Given the description of an element on the screen output the (x, y) to click on. 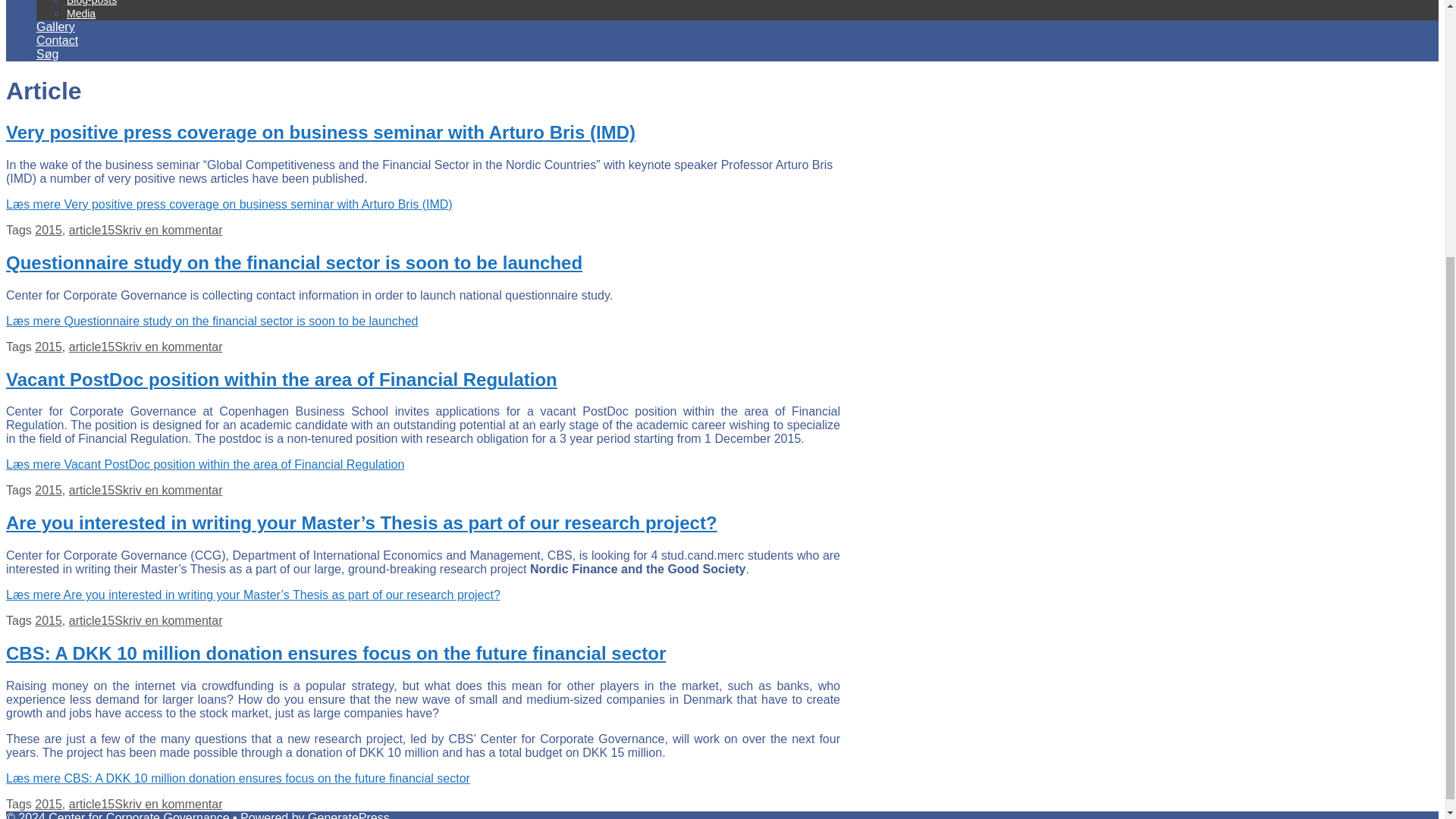
Gallery (55, 26)
2015 (48, 229)
article15 (91, 229)
Skriv en kommentar (168, 229)
Blog-posts (91, 2)
Contact (57, 40)
Media (81, 13)
